Given the description of an element on the screen output the (x, y) to click on. 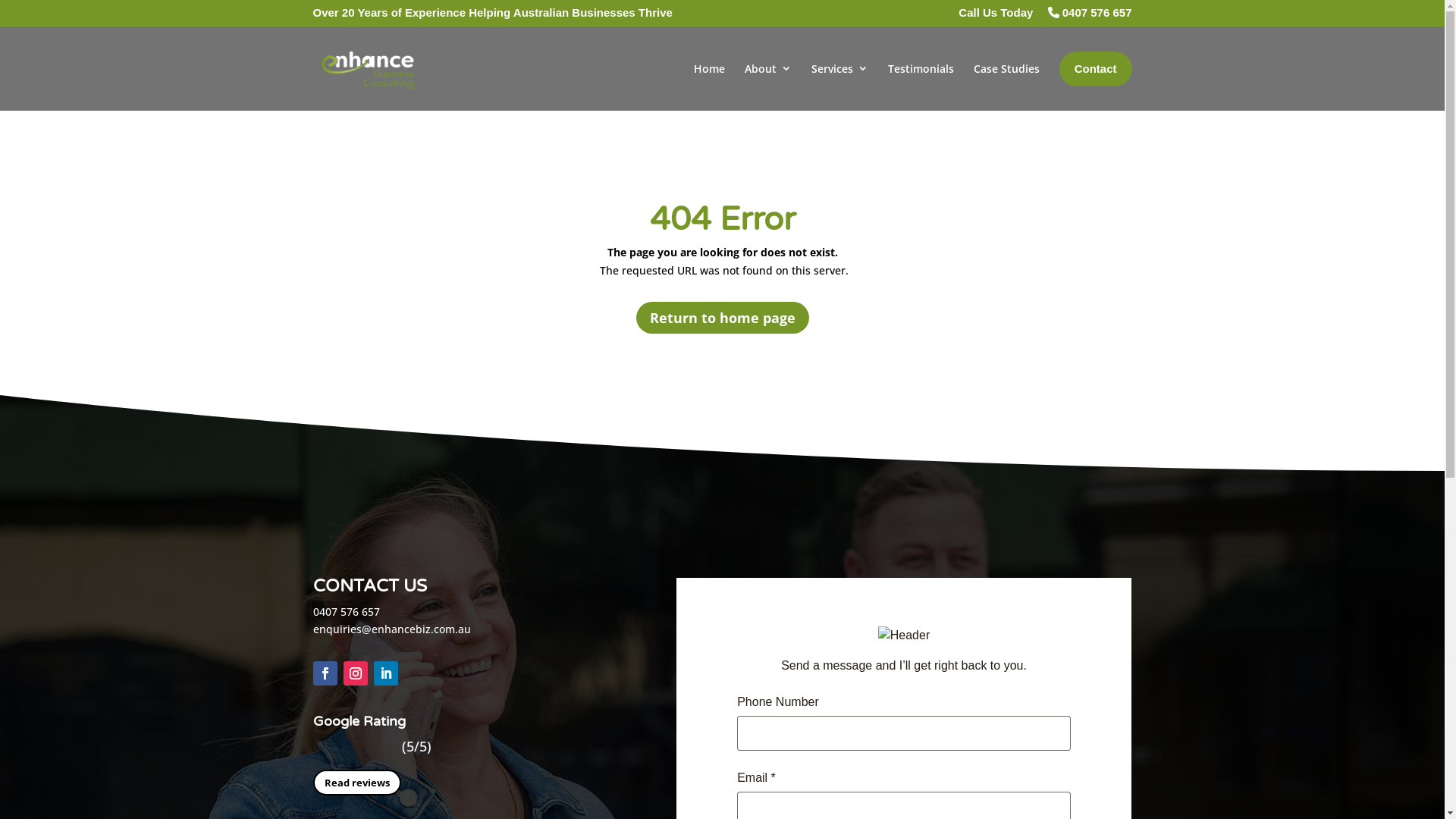
Follow on Facebook Element type: hover (324, 673)
Case Studies Element type: text (1006, 84)
Return to home page Element type: text (721, 316)
Home Element type: text (708, 84)
Services Element type: text (839, 84)
0407 576 657 Element type: text (1090, 16)
Follow on Instagram Element type: hover (354, 673)
Follow on LinkedIn Element type: hover (385, 673)
Read reviews Element type: text (356, 782)
Contact Element type: text (1095, 68)
Call Us Today Element type: text (995, 16)
About Element type: text (767, 84)
Testimonials Element type: text (920, 84)
